Given the description of an element on the screen output the (x, y) to click on. 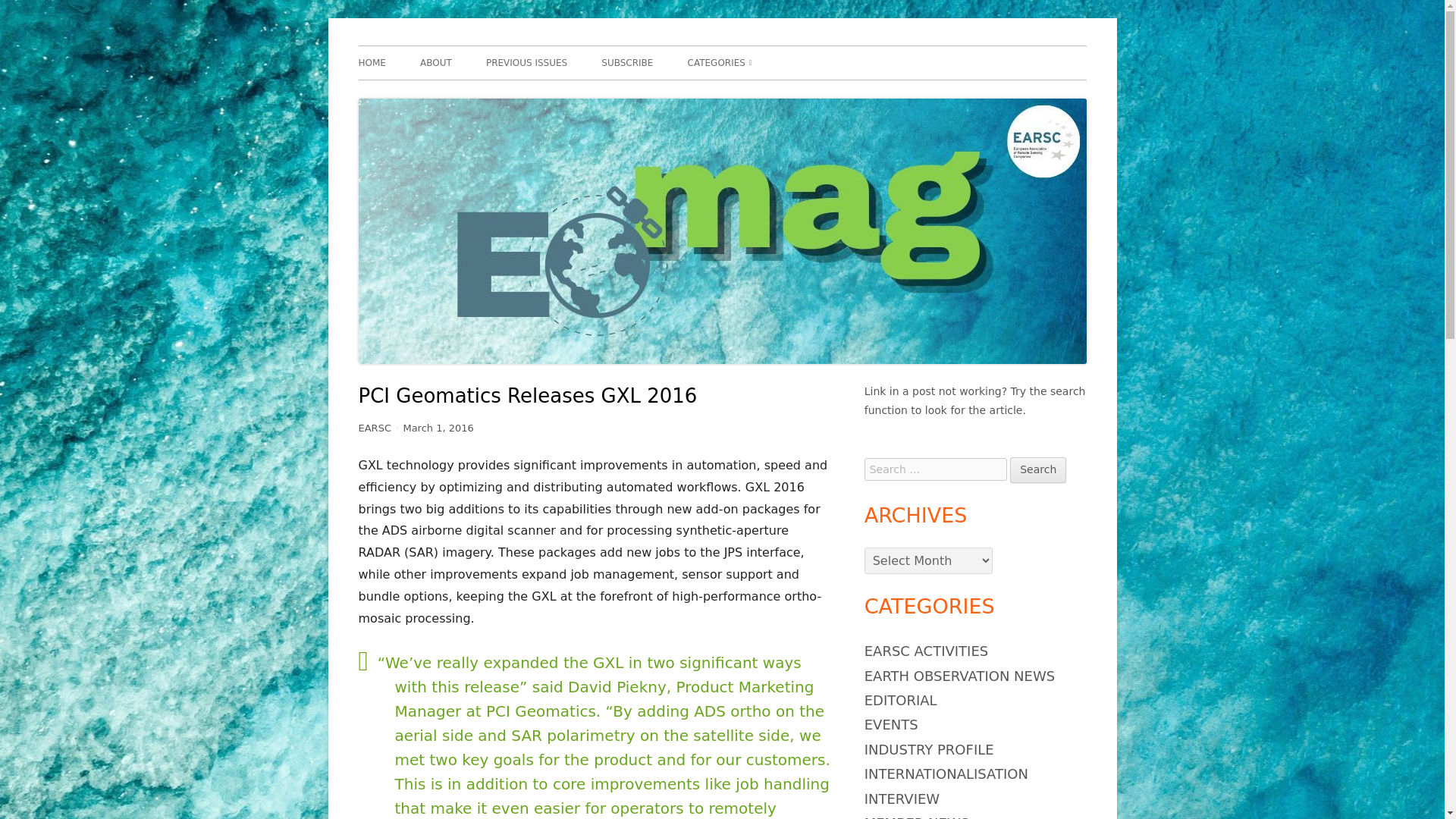
Search (1037, 470)
Search (1037, 470)
EARSC ACTIVITIES (926, 650)
EDITORIAL (900, 700)
CATEGORIES (719, 62)
INTERNATIONALISATION (945, 773)
EVENTS (891, 724)
ABOUT (435, 62)
INTERVIEW (901, 798)
EARTH OBSERVATION NEWS (774, 94)
PREVIOUS ISSUES (526, 62)
MEMBER NEWS (916, 816)
INDUSTRY PROFILE (929, 749)
SUBSCRIBE (626, 62)
March 1, 2016 (438, 428)
